Given the description of an element on the screen output the (x, y) to click on. 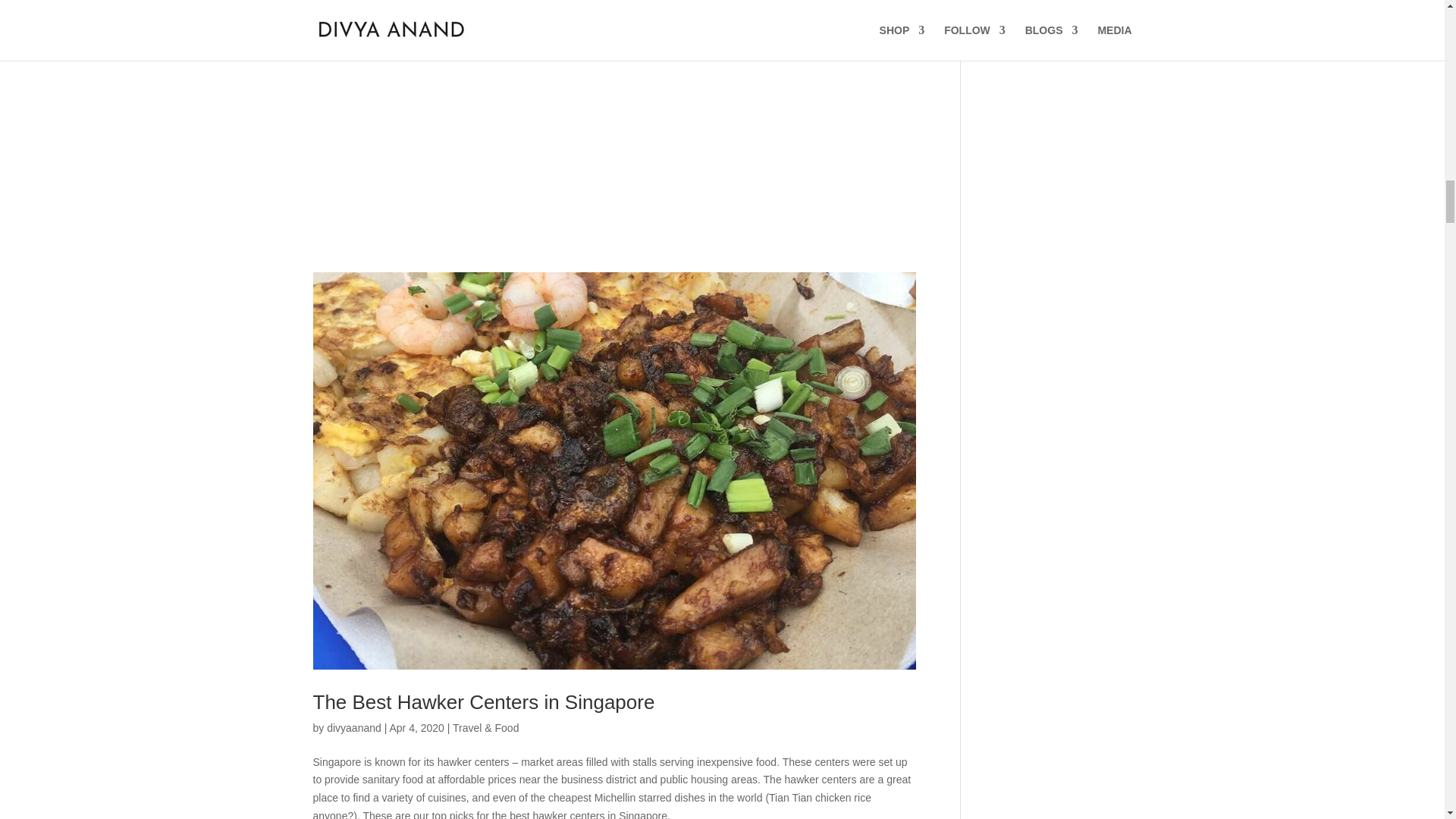
divyaanand (353, 727)
Posts by divyaanand (353, 727)
The Best Hawker Centers in Singapore (483, 702)
